Given the description of an element on the screen output the (x, y) to click on. 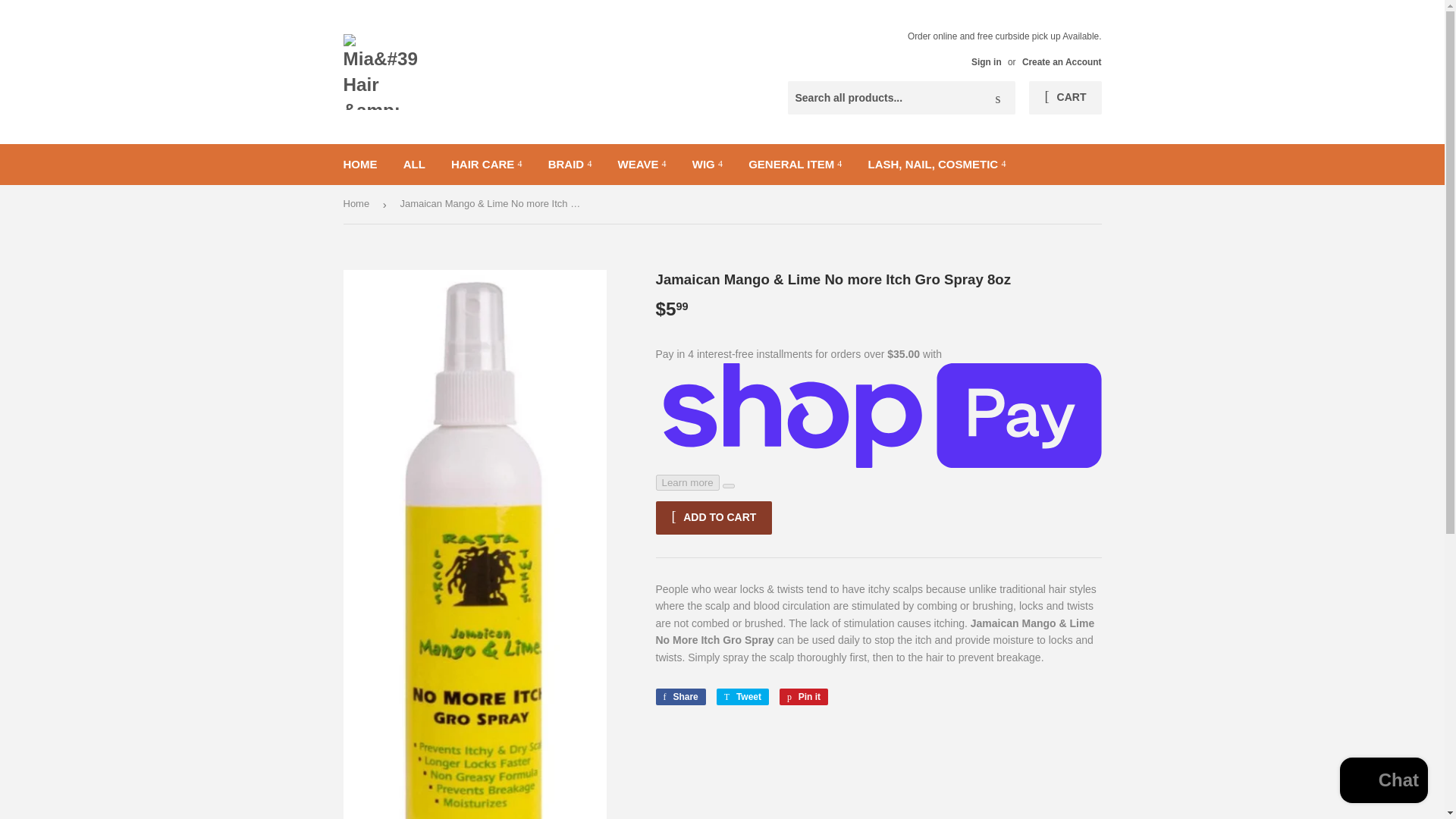
Pin on Pinterest (803, 696)
CART (1064, 97)
Shopify online store chat (1383, 781)
Search (997, 98)
Share on Facebook (679, 696)
Tweet on Twitter (742, 696)
Sign in (986, 61)
Create an Account (1062, 61)
